Given the description of an element on the screen output the (x, y) to click on. 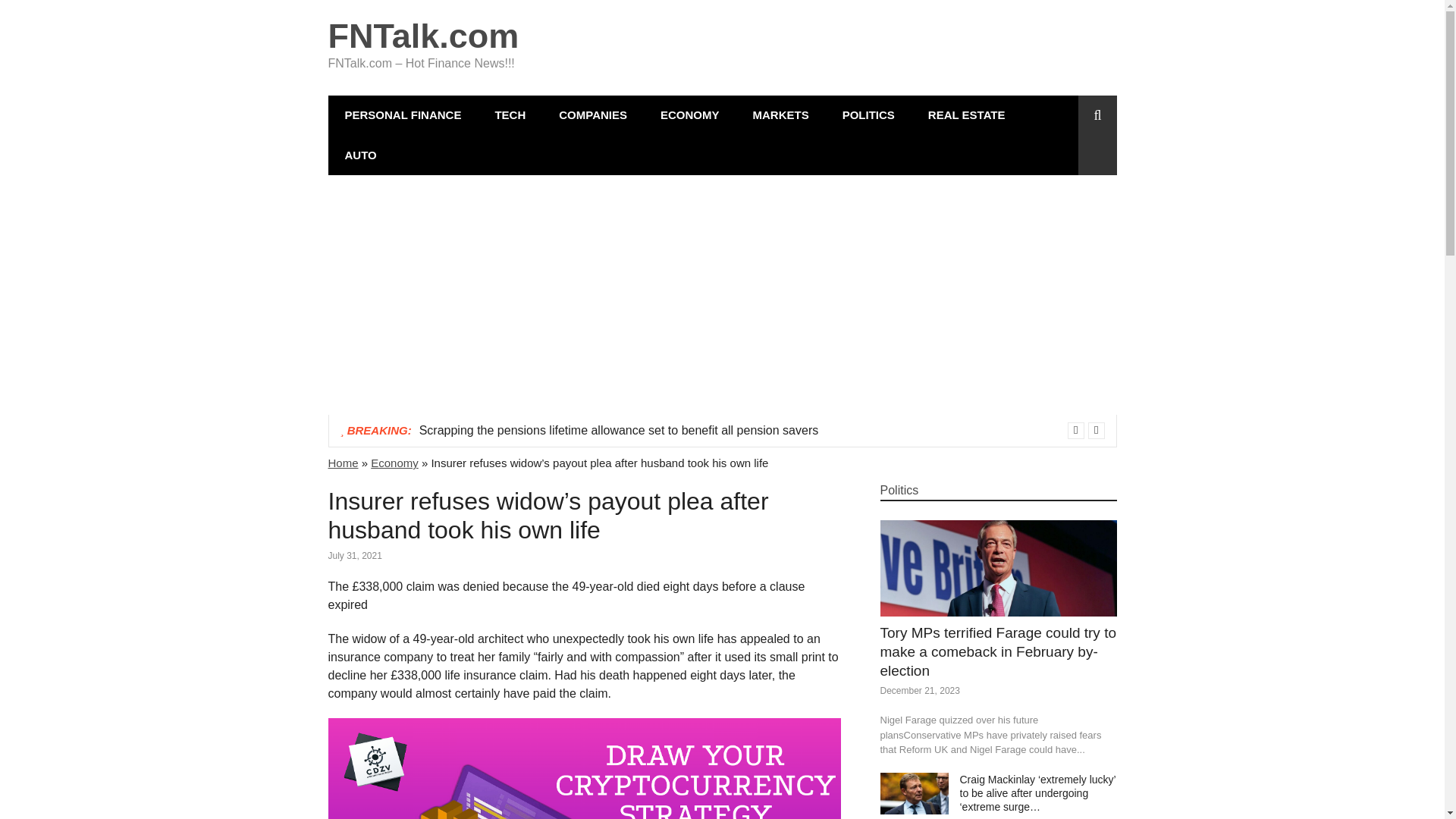
TECH (509, 115)
Economy (395, 462)
MARKETS (780, 115)
AUTO (360, 155)
PERSONAL FINANCE (402, 115)
COMPANIES (592, 115)
ECONOMY (689, 115)
